Given the description of an element on the screen output the (x, y) to click on. 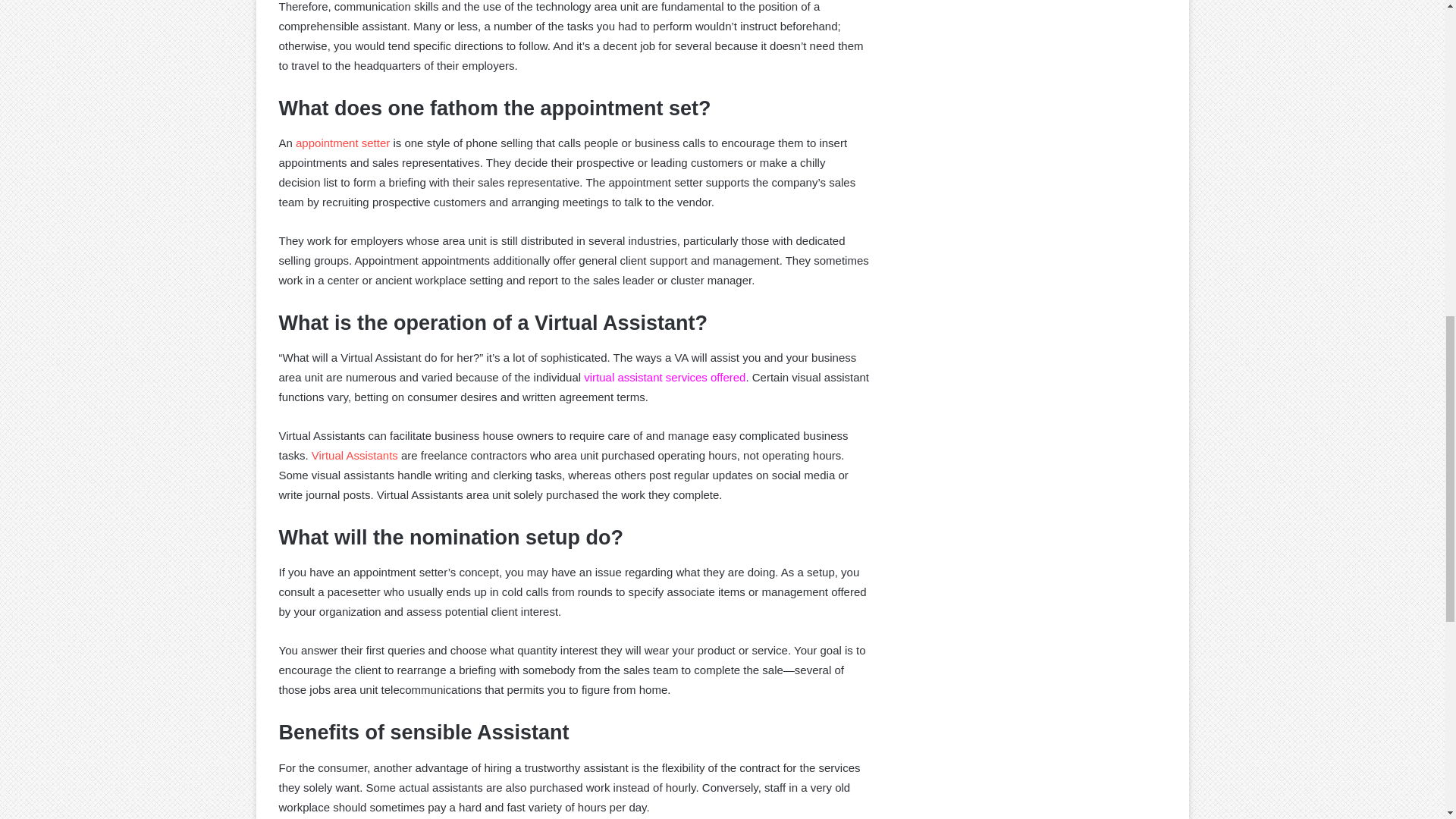
appointment setter (342, 142)
Back to top button (1419, 62)
Virtual Assistants (354, 454)
virtual assistant services offered (664, 377)
